Given the description of an element on the screen output the (x, y) to click on. 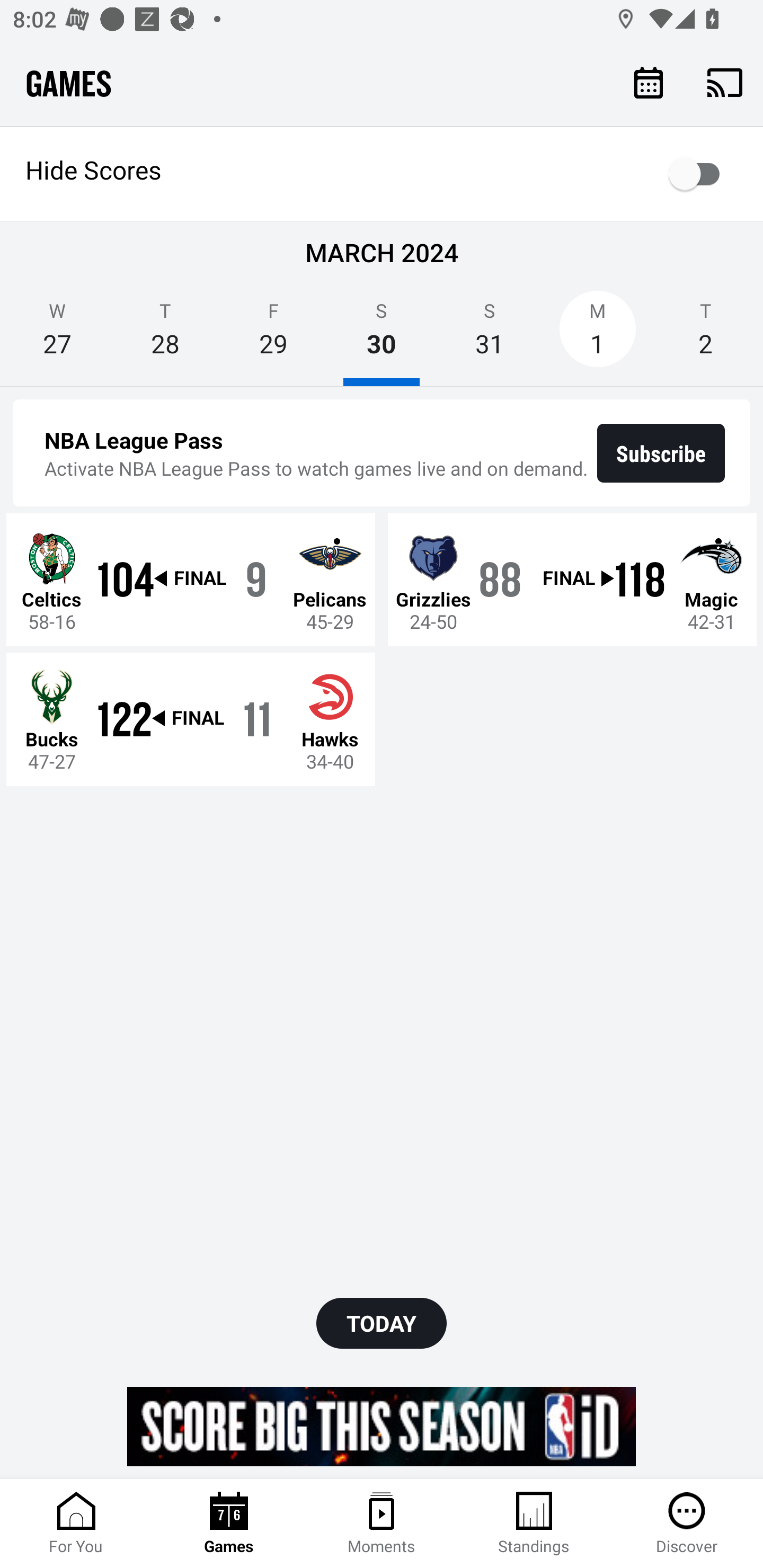
Cast. Disconnected (724, 82)
Calendar (648, 81)
Hide Scores (381, 174)
W 27 (57, 334)
T 28 (165, 334)
F 29 (273, 334)
S 30 (381, 334)
S 31 (489, 334)
M 1 (597, 334)
T 2 (705, 334)
Subscribe (660, 452)
Celtics 58-16 104 FINAL 92 Pelicans 45-29 (190, 579)
Grizzlies 24-50 88 FINAL 118 Magic 42-31 (571, 579)
Bucks 47-27 122 FINAL 113 Hawks 34-40 (190, 718)
TODAY (381, 1323)
g5nqqygr7owph (381, 1426)
For You (76, 1523)
Moments (381, 1523)
Standings (533, 1523)
Discover (686, 1523)
